Given the description of an element on the screen output the (x, y) to click on. 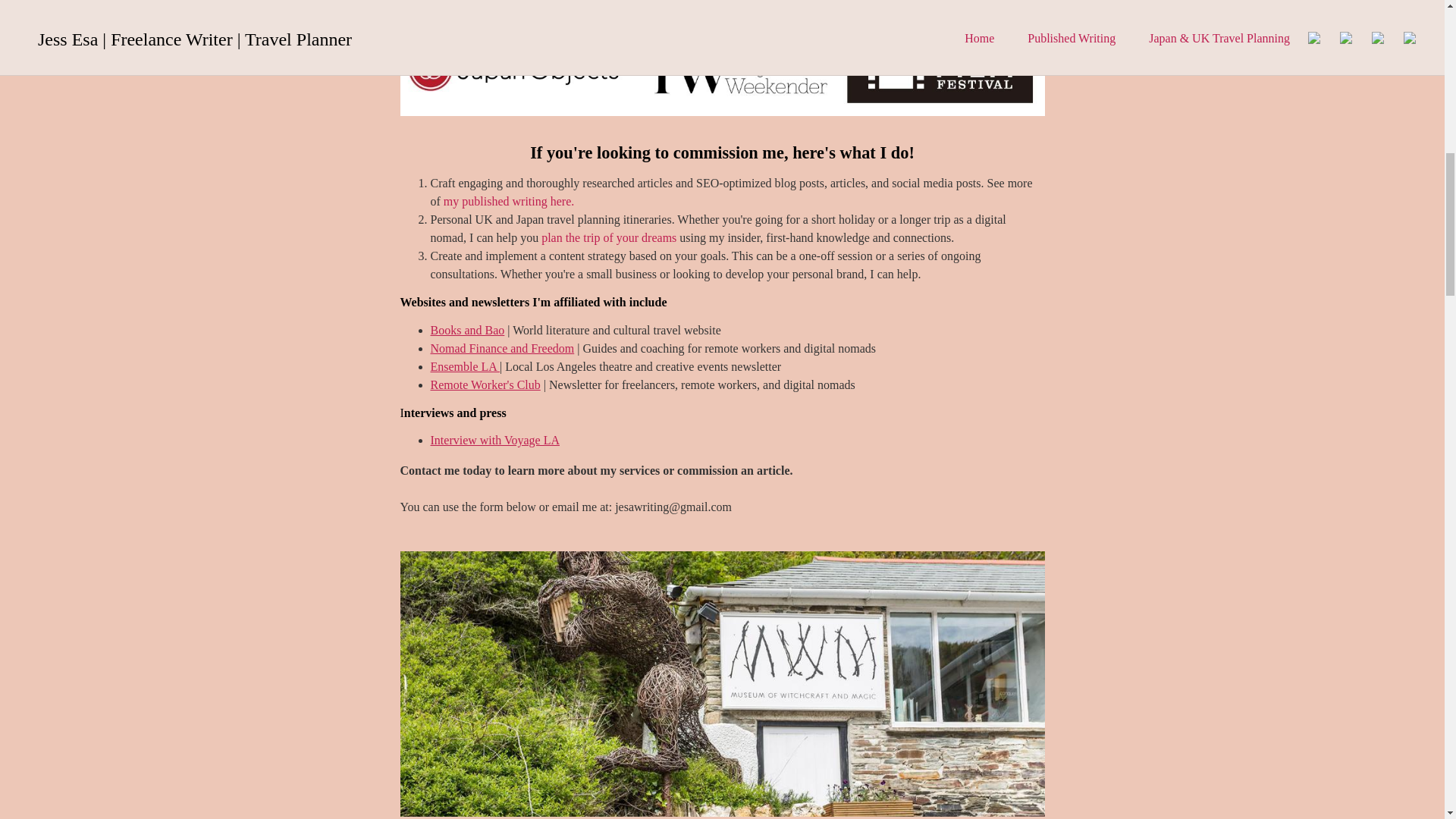
Nomad Finance and Freedom (502, 348)
Books and Bao (467, 329)
plan the trip of your dreams (609, 237)
my published writing here. (508, 201)
Ensemble LA (465, 366)
